Given the description of an element on the screen output the (x, y) to click on. 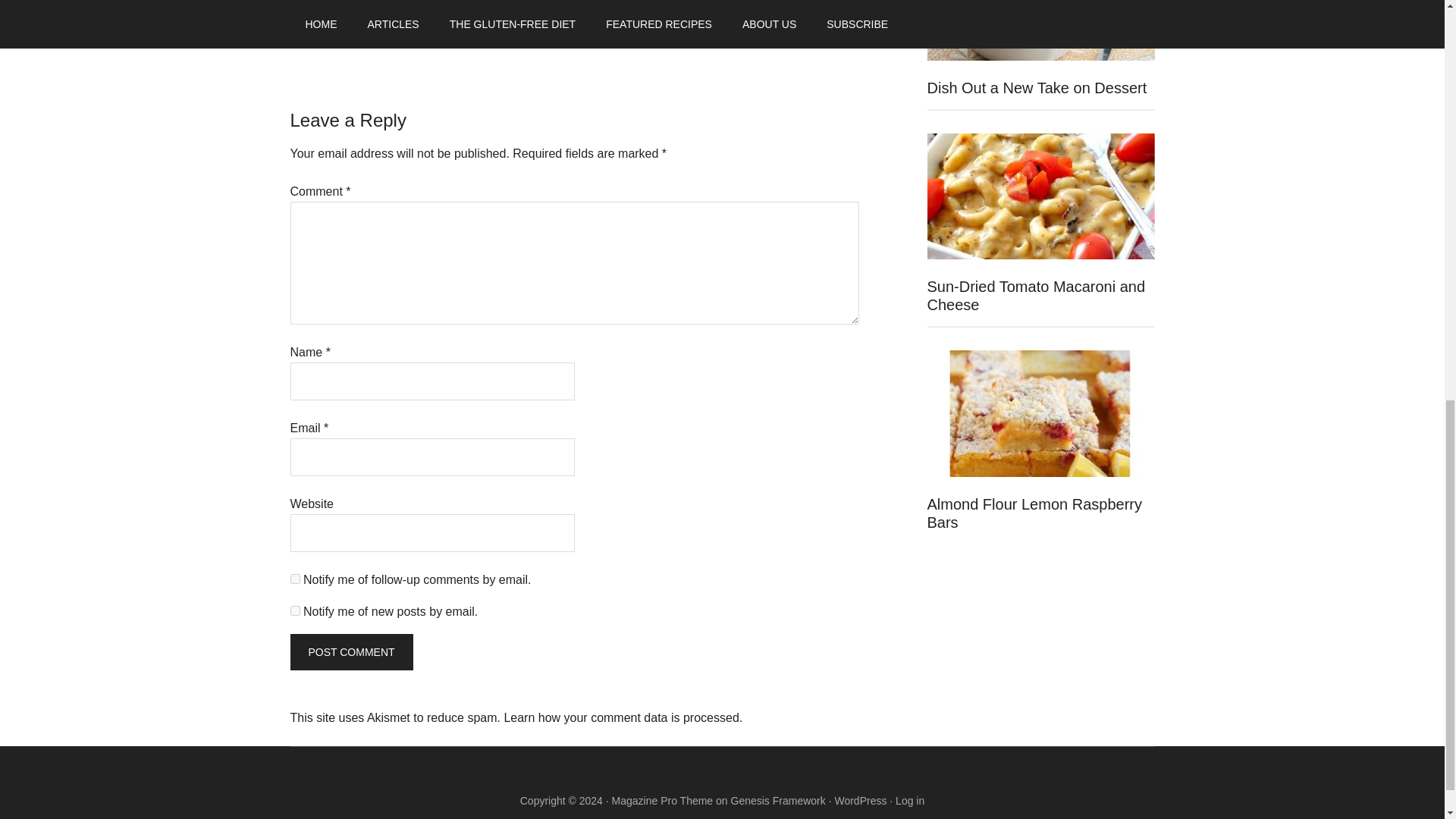
Click to share on Facebook (331, 29)
subscribe (294, 578)
WordPress (860, 800)
Log in (909, 800)
Click to share on Twitter (301, 29)
Learn how your comment data is processed (620, 717)
Almond Flour Lemon Raspberry Bars (1033, 513)
Click to email a link to a friend (362, 29)
Genesis Framework (777, 800)
Click to share on Reddit (422, 29)
Post Comment (350, 651)
Post Comment (350, 651)
Sun-Dried Tomato Macaroni and Cheese (1035, 295)
Click to share on Pocket (392, 29)
Magazine Pro Theme (662, 800)
